Given the description of an element on the screen output the (x, y) to click on. 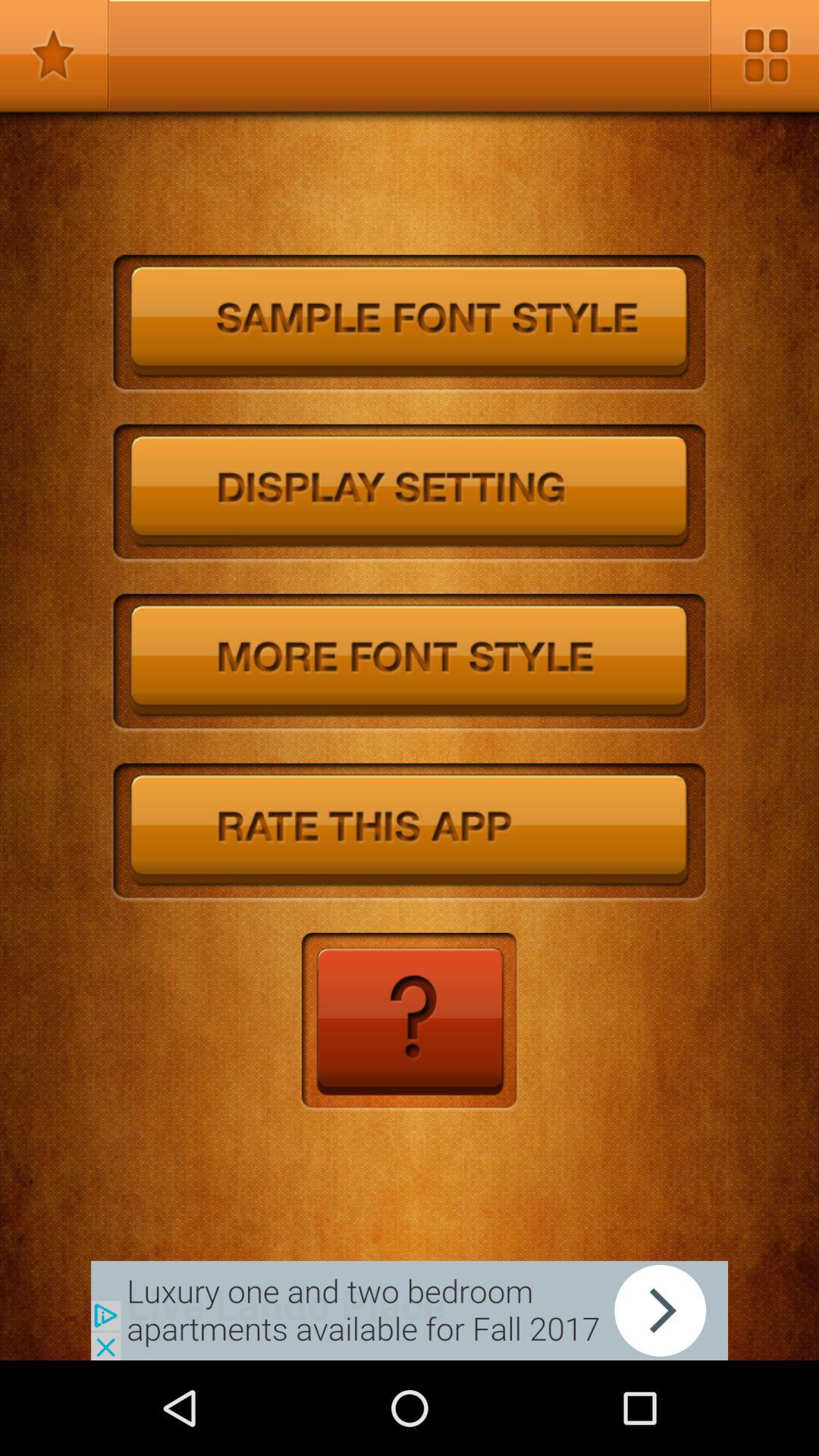
toggle the selection option (54, 54)
